Given the description of an element on the screen output the (x, y) to click on. 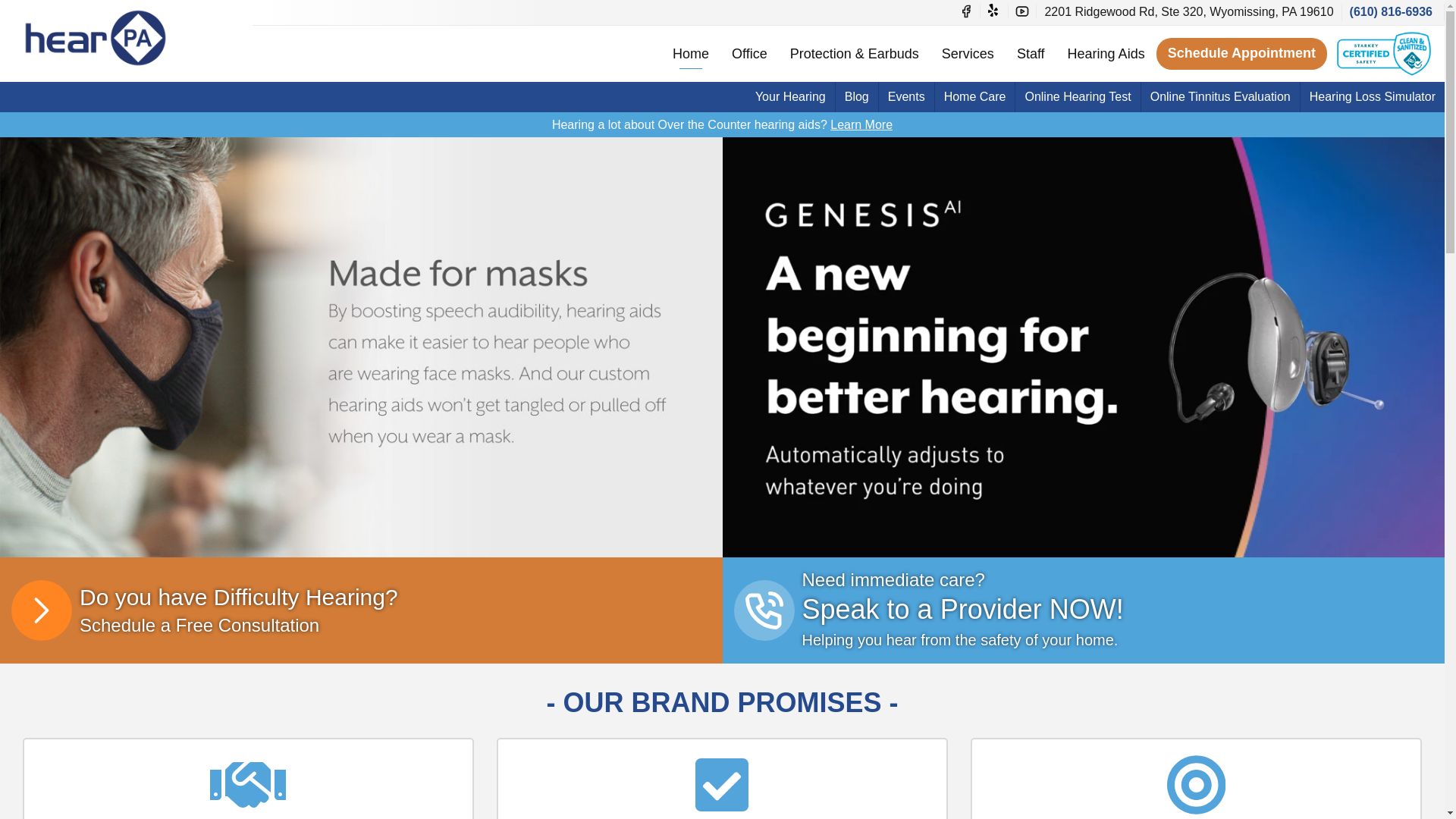
Hear PA Facebook (966, 11)
Learn More (860, 124)
Home (690, 53)
Hear PA Youtube (1021, 11)
Your Hearing (789, 96)
Staff (1031, 53)
Services (968, 53)
Hear PA Yelp (994, 11)
Online Hearing Test (1077, 96)
